Given the description of an element on the screen output the (x, y) to click on. 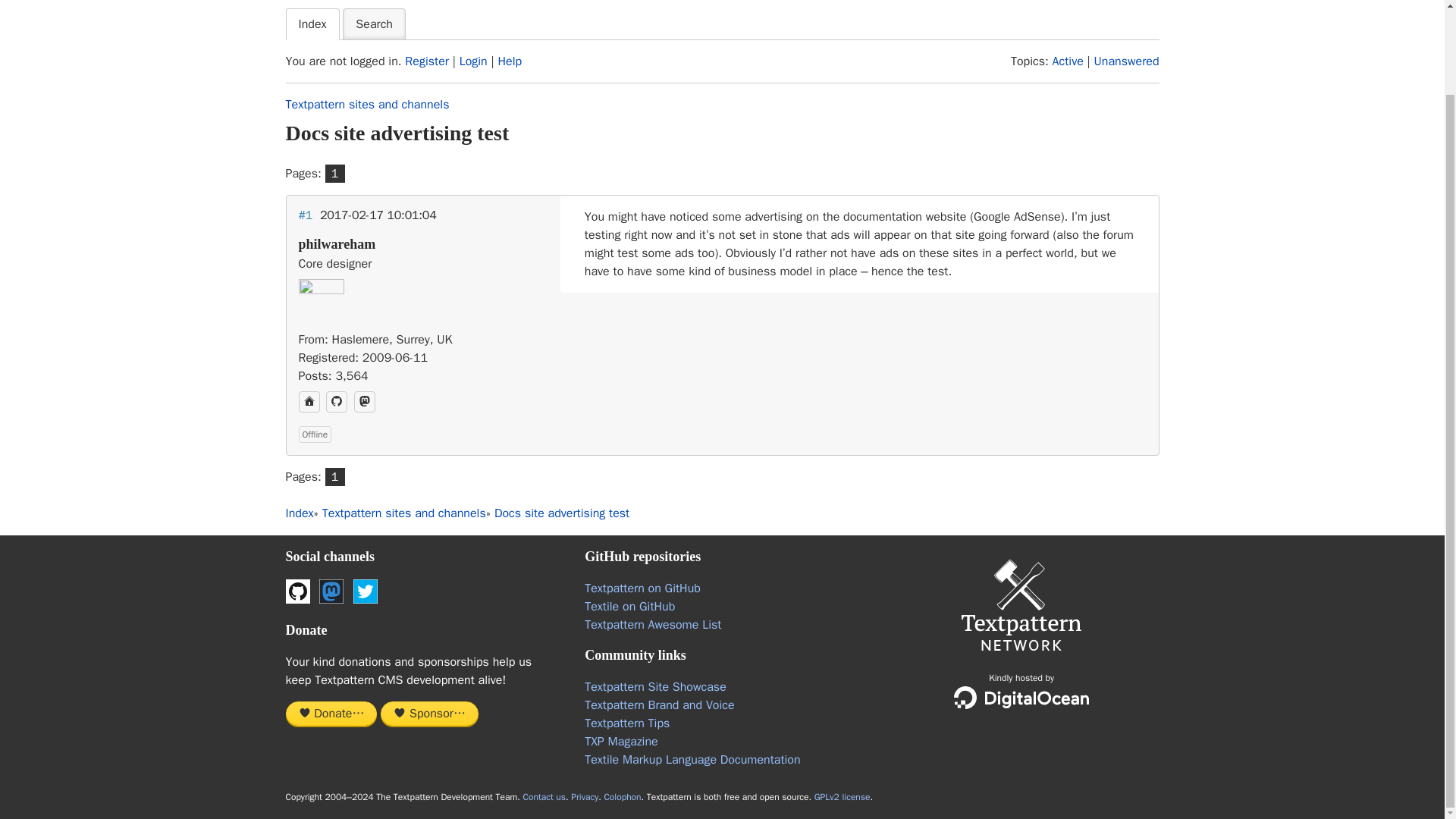
GitHub (336, 401)
Follow us on Twitter (365, 591)
Textpattern sites and channels (366, 104)
Mastodon (330, 591)
Textpattern on GitHub (642, 588)
Login (473, 61)
Textpattern Awesome List (652, 624)
Index (312, 24)
GitHub (296, 591)
Website (309, 401)
